Given the description of an element on the screen output the (x, y) to click on. 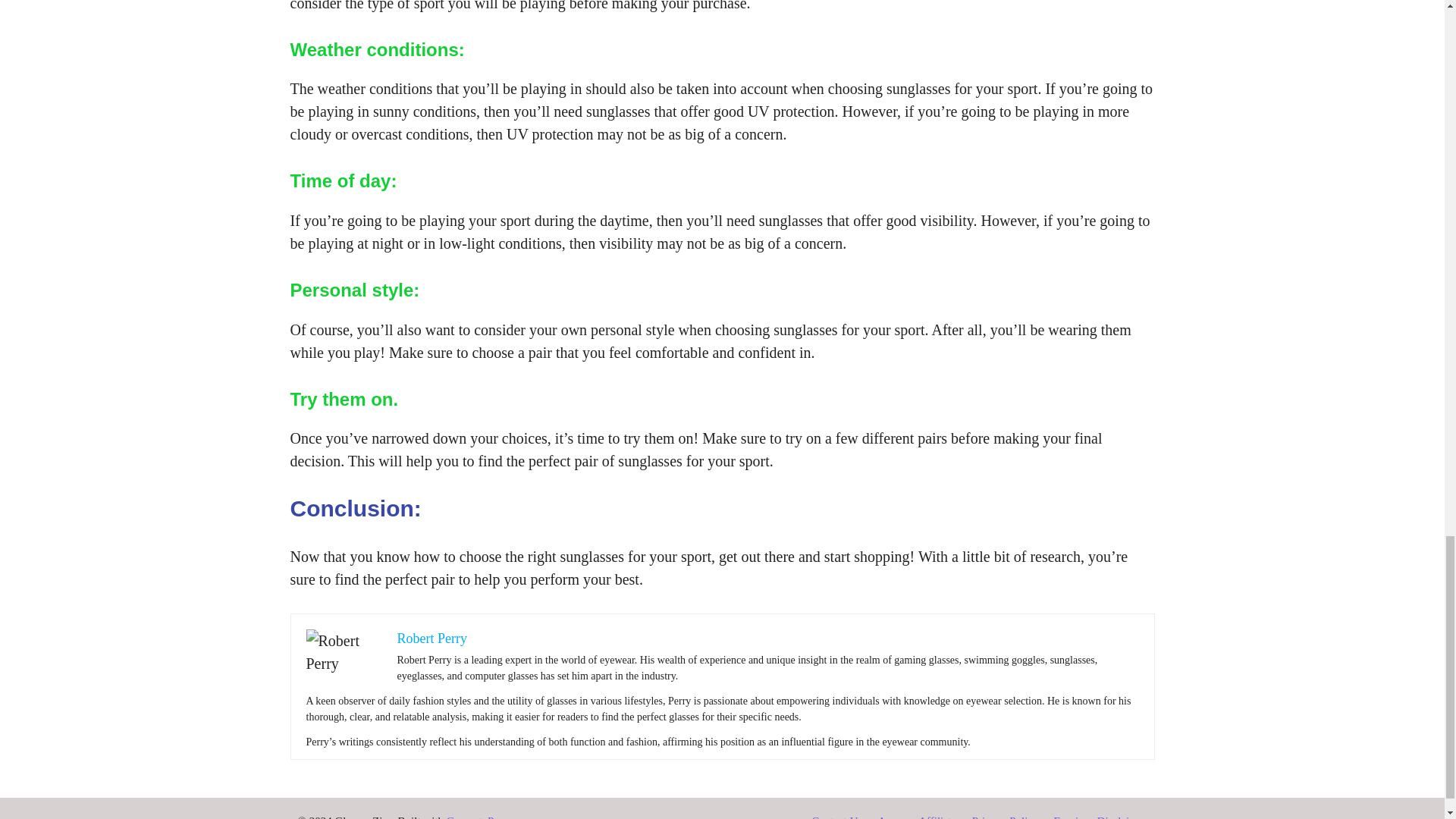
Contact Us (835, 816)
Privacy Policy (1005, 816)
GeneratePress (479, 816)
Robert Perry (432, 638)
Earnings Disclaimer (1100, 816)
Amazon Affiliate (916, 816)
